Given the description of an element on the screen output the (x, y) to click on. 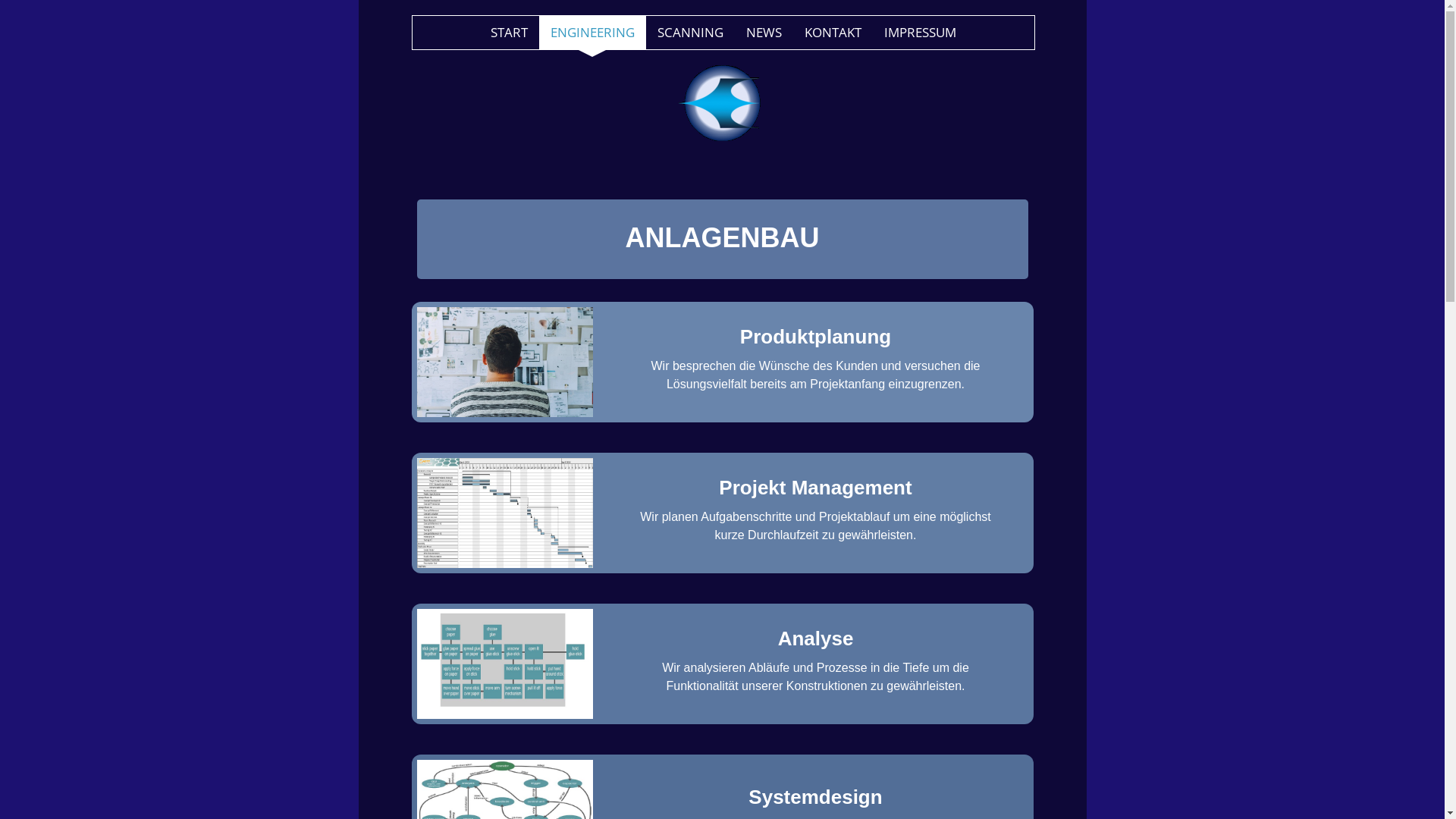
IMPRESSUM Element type: text (919, 32)
SCANNING Element type: text (690, 32)
ENGINEERING Element type: text (591, 32)
START Element type: text (509, 32)
KONTAKT Element type: text (832, 32)
NEWS Element type: text (763, 32)
